Given the description of an element on the screen output the (x, y) to click on. 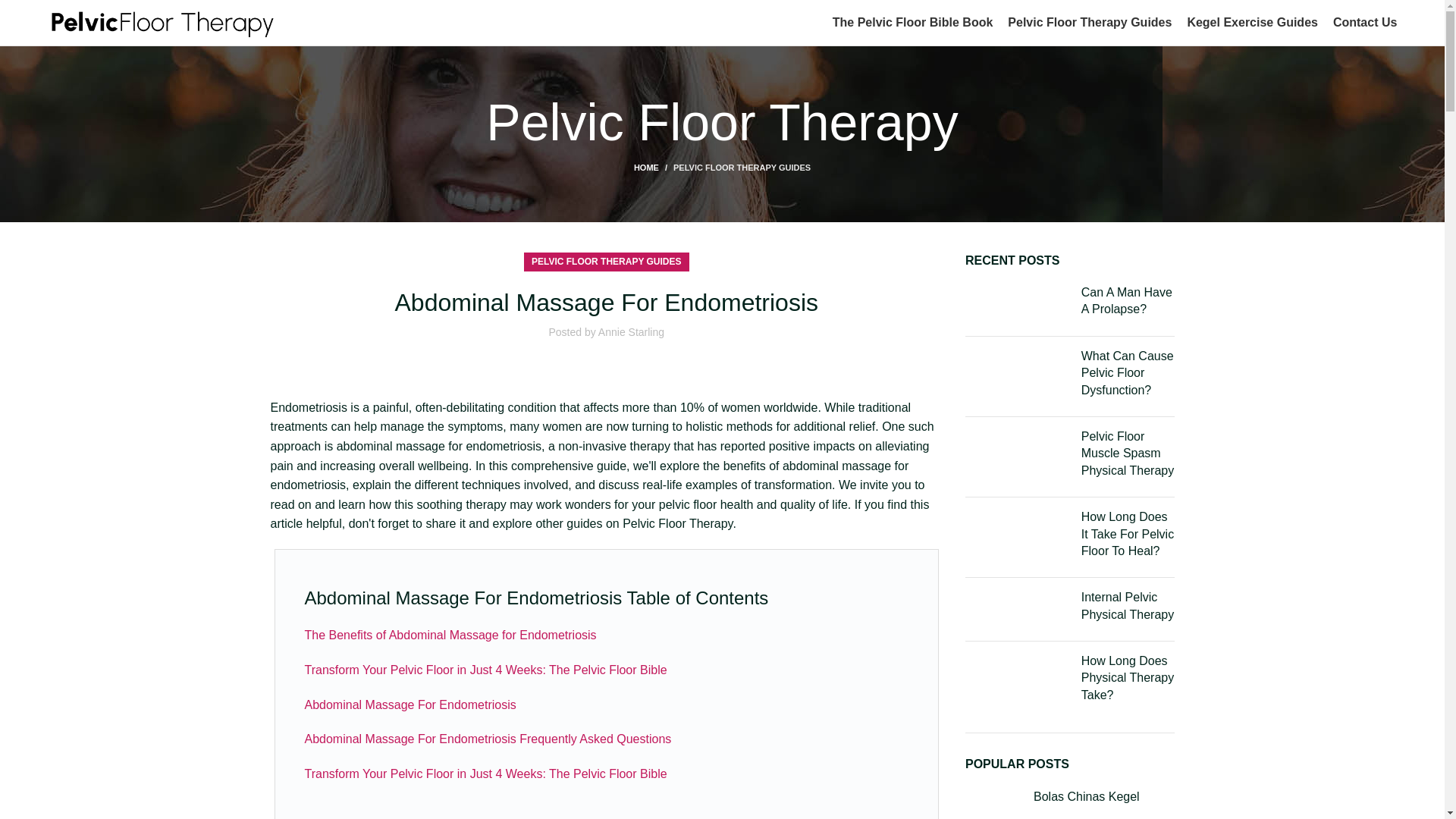
PELVIC FLOOR THERAPY GUIDES (741, 166)
Annie Starling (630, 331)
Abdominal Massage For Endometriosis (410, 704)
The Pelvic Floor Bible Book (912, 22)
Kegel Exercise Guides (1251, 22)
The Benefits of Abdominal Massage for Endometriosis (450, 634)
Pelvic Floor Therapy Guides (1089, 22)
PELVIC FLOOR THERAPY GUIDES (606, 261)
Contact Us (1364, 22)
